Given the description of an element on the screen output the (x, y) to click on. 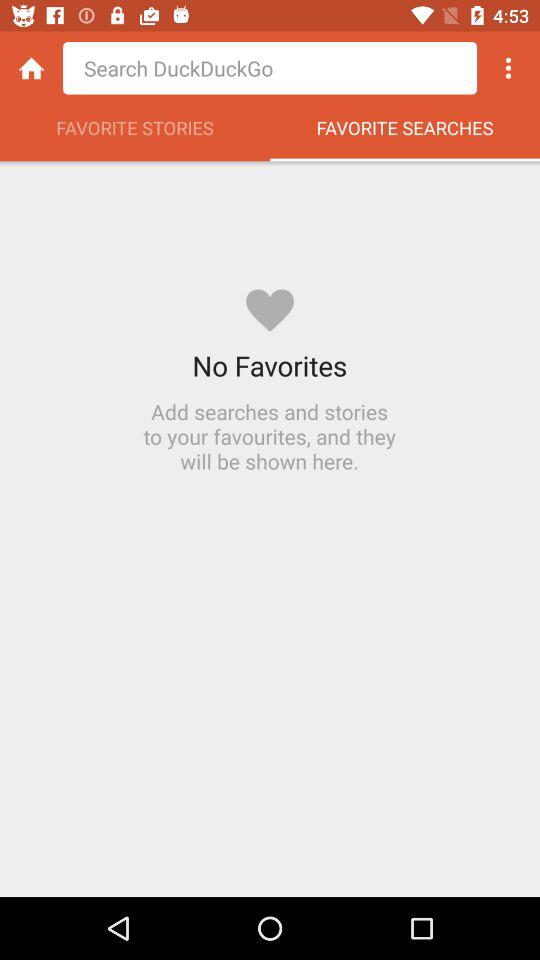
scroll to the favorite stories item (135, 133)
